Given the description of an element on the screen output the (x, y) to click on. 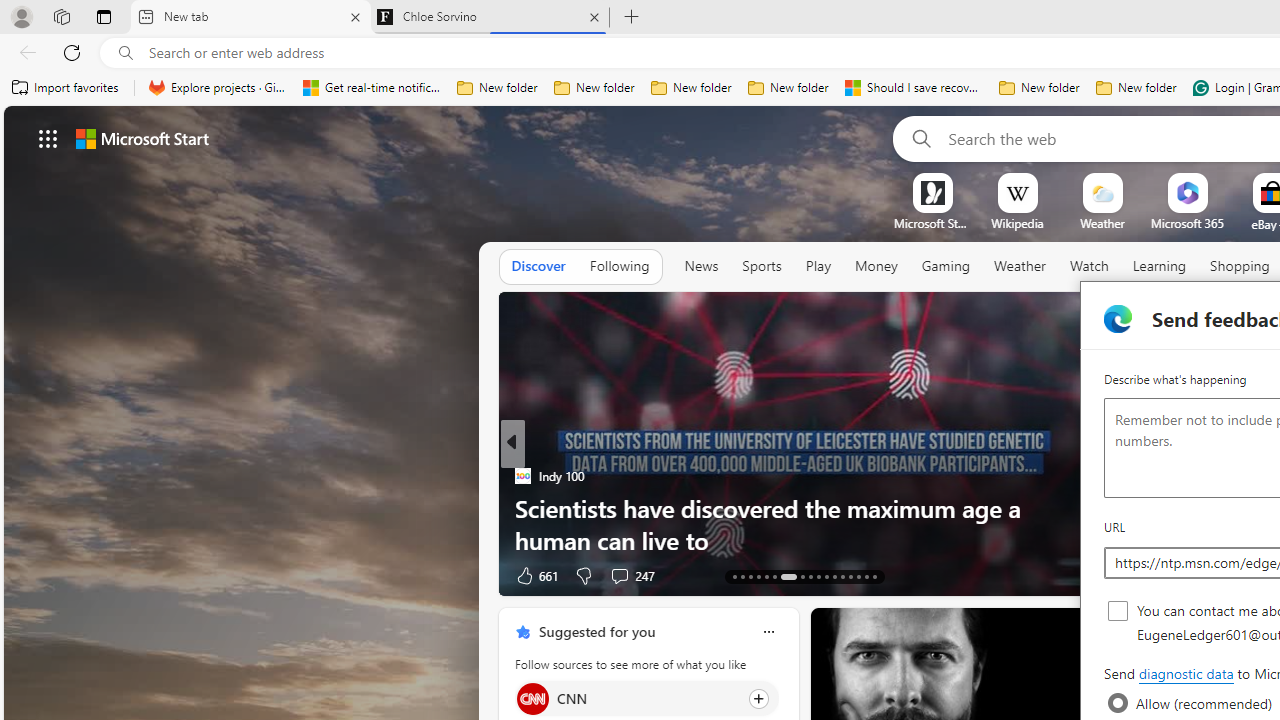
Play (818, 267)
Sports (761, 265)
